Given the description of an element on the screen output the (x, y) to click on. 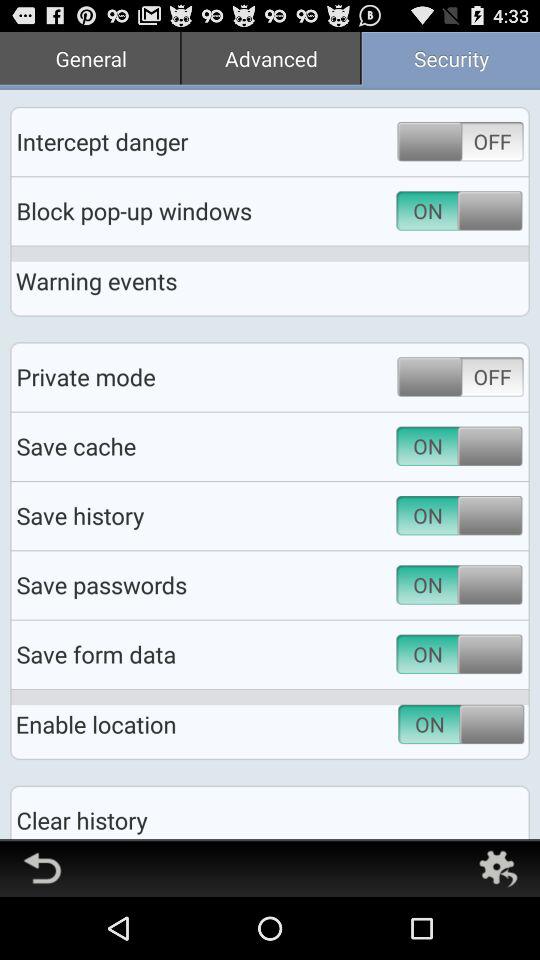
previous (42, 868)
